Given the description of an element on the screen output the (x, y) to click on. 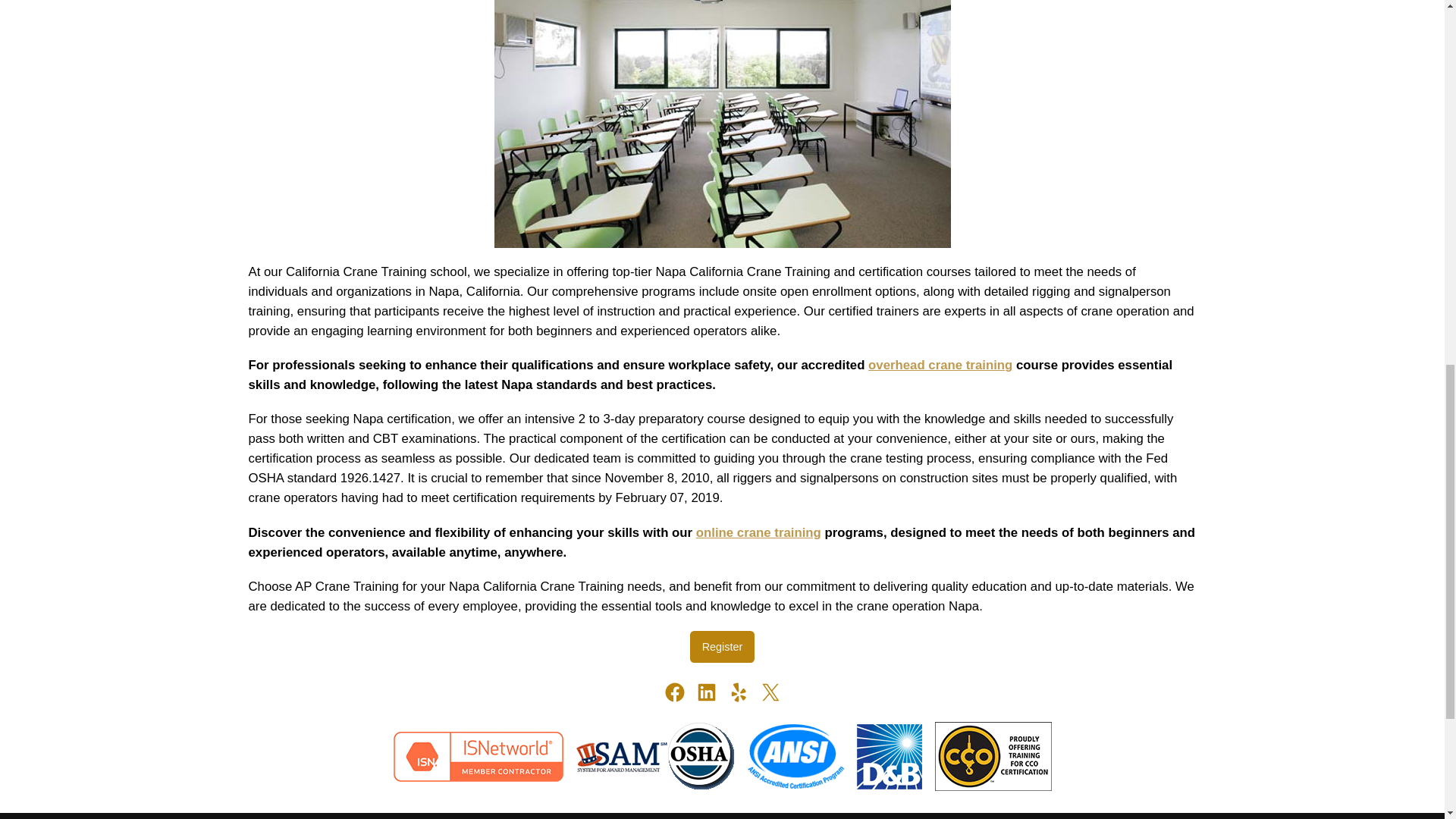
Facebook (673, 691)
X (769, 691)
overhead crane training (939, 364)
online crane training (758, 532)
Register (722, 646)
LinkedIn (705, 691)
Yelp (737, 691)
